Given the description of an element on the screen output the (x, y) to click on. 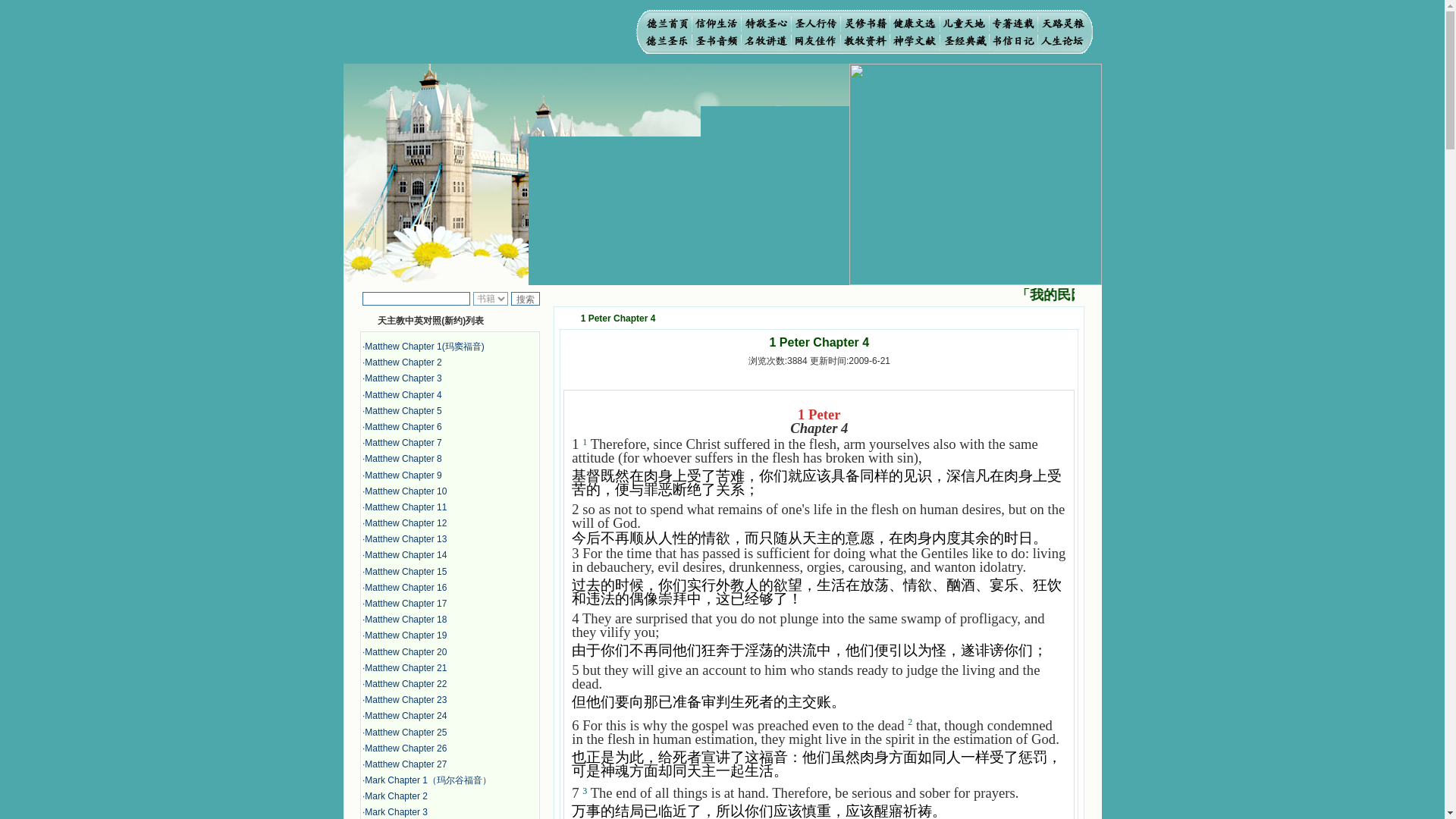
Matthew Chapter 8 (403, 458)
Matthew Chapter 17 (405, 603)
Matthew Chapter 12 (405, 522)
Matthew Chapter 20 (405, 652)
Matthew Chapter 7 (403, 442)
Matthew Chapter 5 (403, 410)
Matthew Chapter 26 (405, 747)
Matthew Chapter 10 (405, 491)
Matthew Chapter 21 (405, 667)
Matthew Chapter 6 (403, 426)
Matthew Chapter 9 (403, 475)
Matthew Chapter 8 (403, 458)
Matthew Chapter 10 (405, 491)
Matthew Chapter 5 (403, 410)
Matthew Chapter 12 (405, 522)
